Given the description of an element on the screen output the (x, y) to click on. 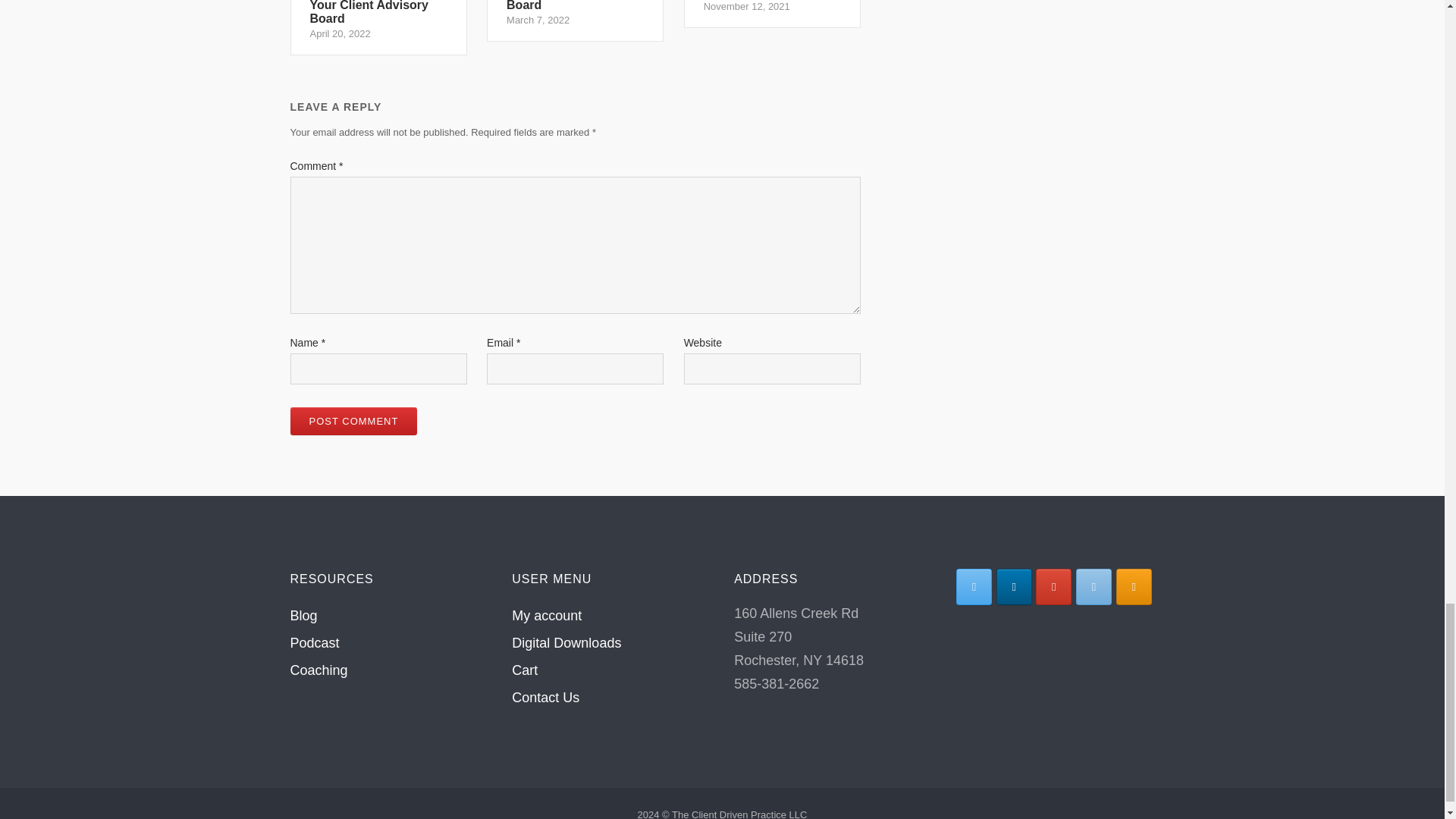
The Importance of Reporting Back to Your Board (772, 13)
Podcast (574, 20)
The Client Driven Practice LLC on Rss (314, 642)
Digital Downloads (1133, 586)
The Client Driven Practice LLC on X Twitter (566, 642)
Cart (973, 586)
The Client Driven Practice LLC on Envelope (524, 670)
Your financial plan is probably too long (574, 20)
Post Comment (1093, 586)
Post Comment (772, 13)
Coaching (352, 420)
My account (352, 420)
